Given the description of an element on the screen output the (x, y) to click on. 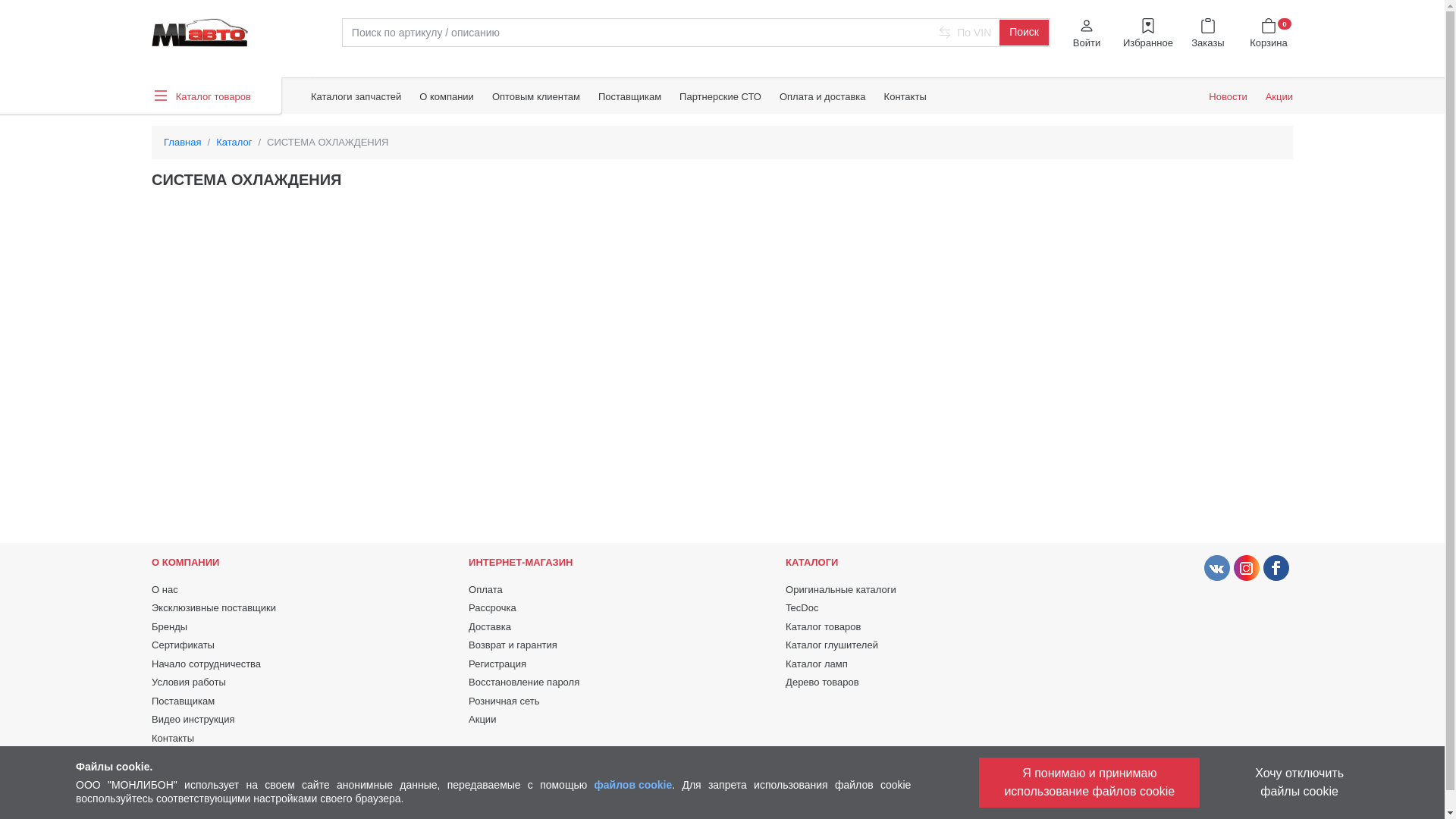
TecDoc Element type: text (801, 607)
